Given the description of an element on the screen output the (x, y) to click on. 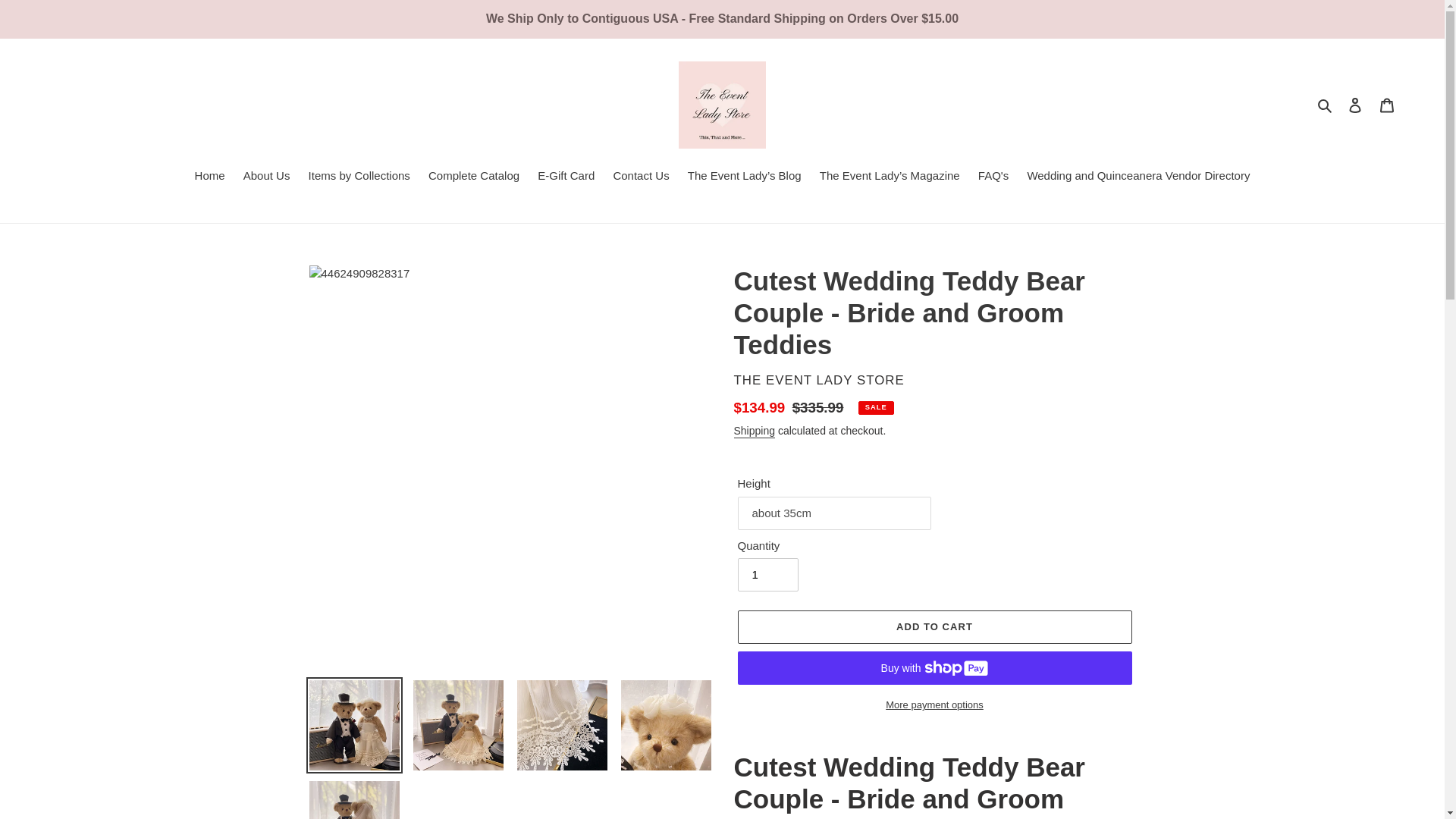
E-Gift Card (565, 177)
Shipping (754, 431)
FAQ's (993, 177)
Log in (1355, 104)
Contact Us (641, 177)
Search (1326, 104)
Complete Catalog (473, 177)
Items by Collections (359, 177)
1 (766, 574)
Home (209, 177)
Wedding and Quinceanera Vendor Directory (1138, 177)
About Us (266, 177)
Cart (1387, 104)
